Given the description of an element on the screen output the (x, y) to click on. 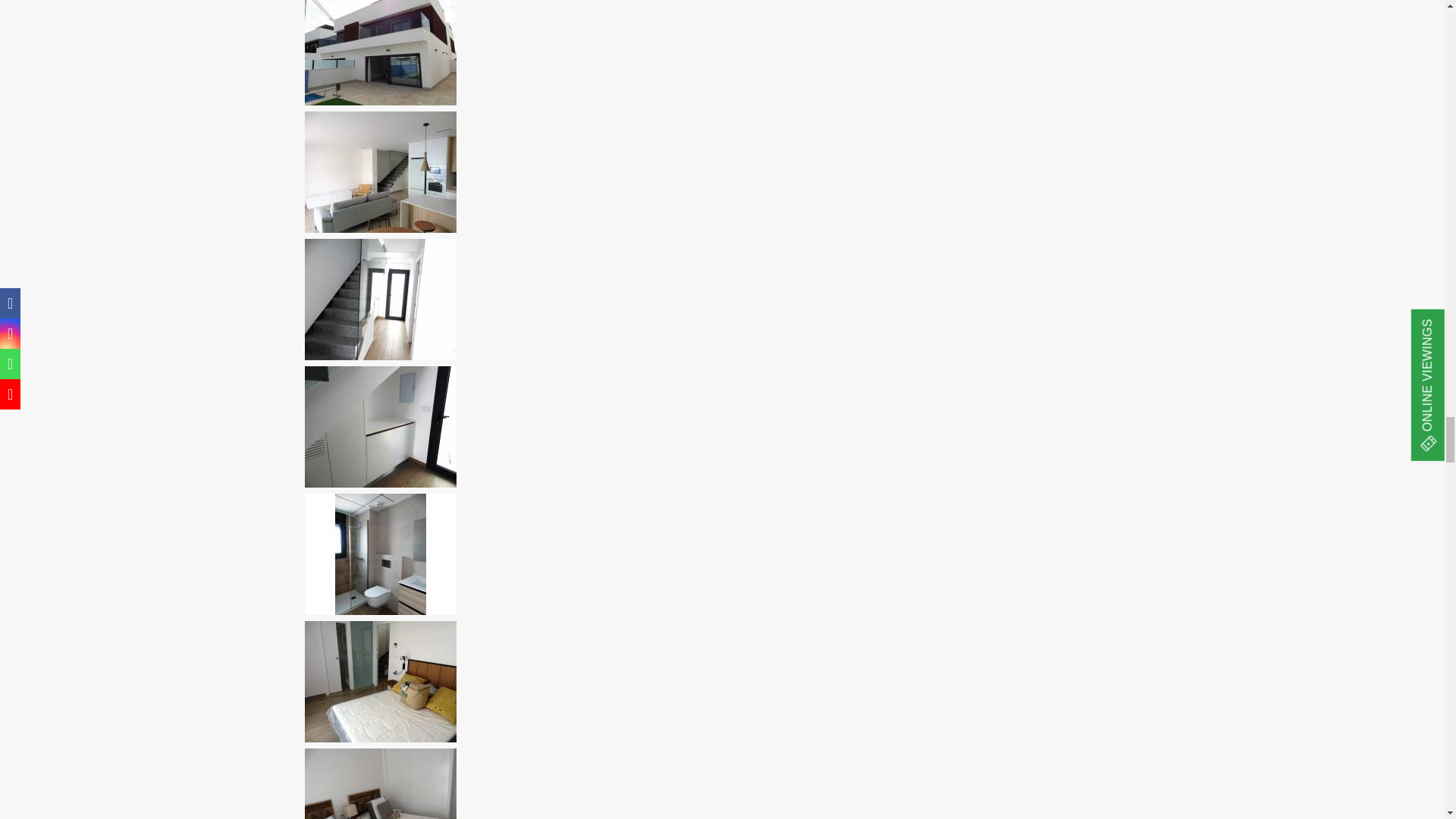
New Build - Villa - San Javier - Santiago de la Ribera (380, 171)
New Build - Villa - San Javier - Santiago de la Ribera (380, 54)
